Given the description of an element on the screen output the (x, y) to click on. 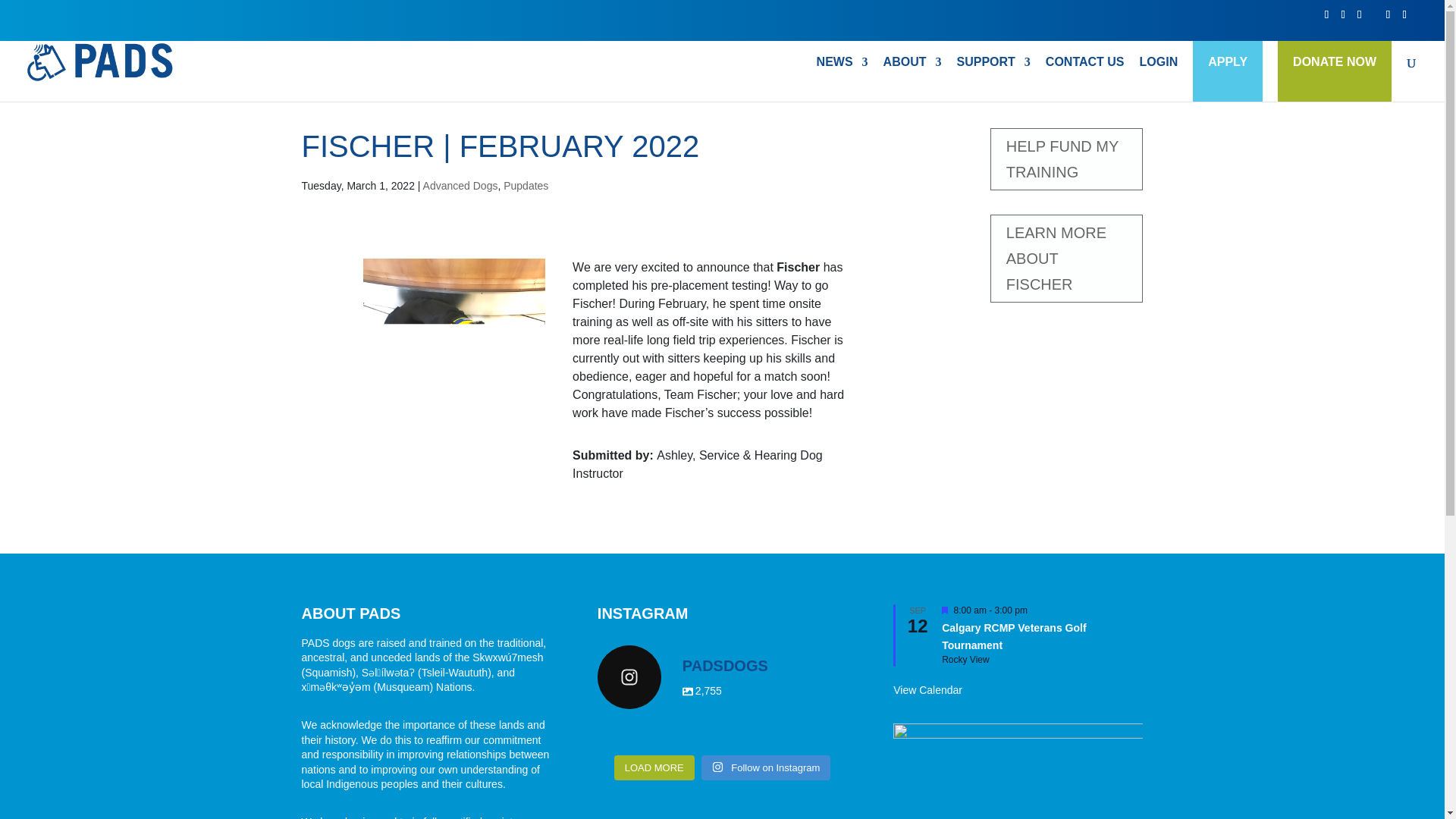
Calgary RCMP Veterans Golf Tournament (721, 677)
SUPPORT (1014, 636)
Advanced Dogs (992, 78)
DONATE NOW (460, 185)
ABOUT (1334, 61)
NEWS (912, 78)
Pupdates (841, 78)
HELP FUND MY TRAINING (525, 185)
